Given the description of an element on the screen output the (x, y) to click on. 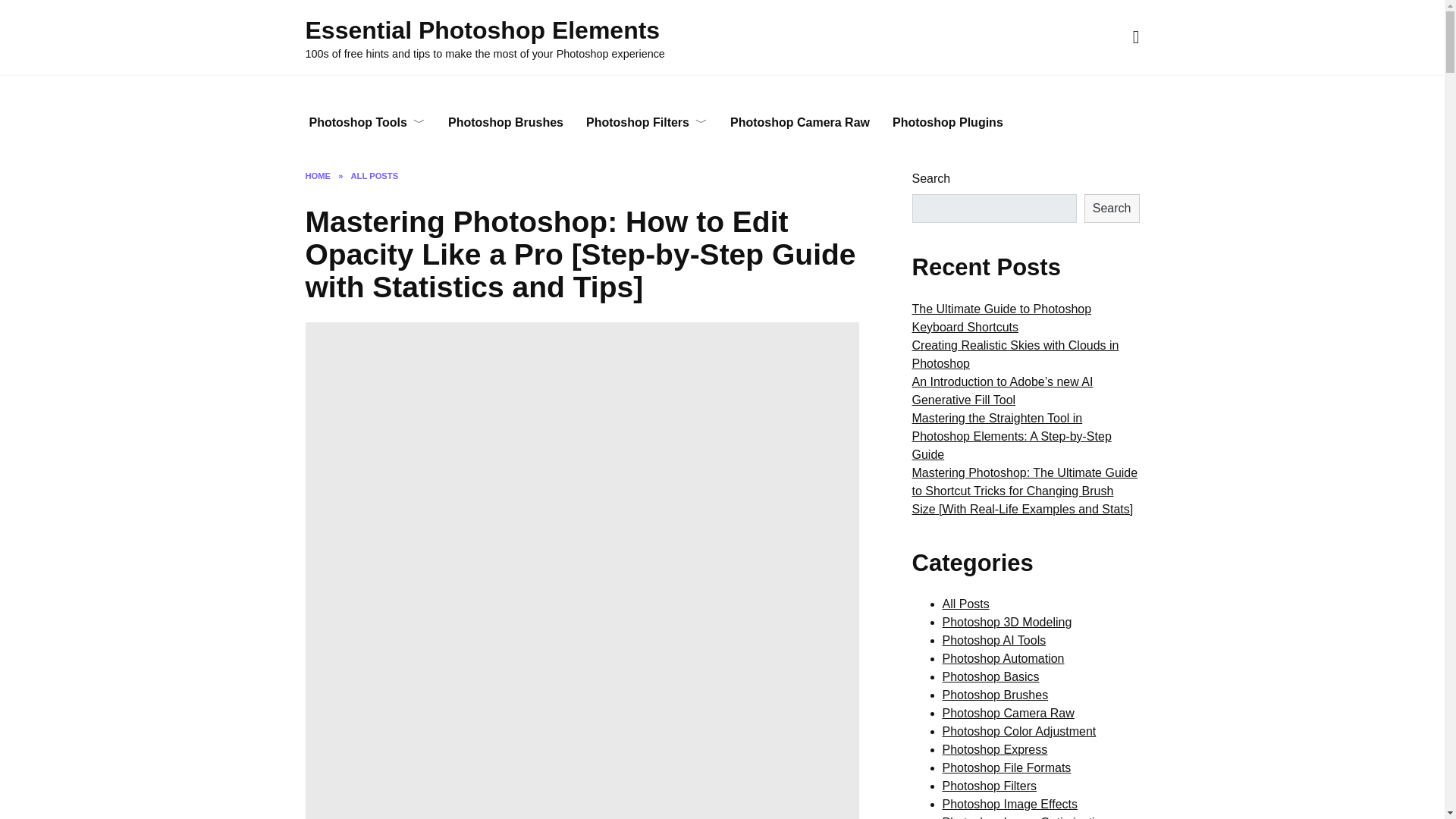
Photoshop Brushes (505, 122)
Photoshop Camera Raw (799, 122)
Photoshop Filters (647, 122)
Photoshop Plugins (947, 122)
ALL POSTS (374, 175)
Photoshop Tools (366, 122)
HOME (317, 175)
Essential Photoshop Elements (481, 30)
